Given the description of an element on the screen output the (x, y) to click on. 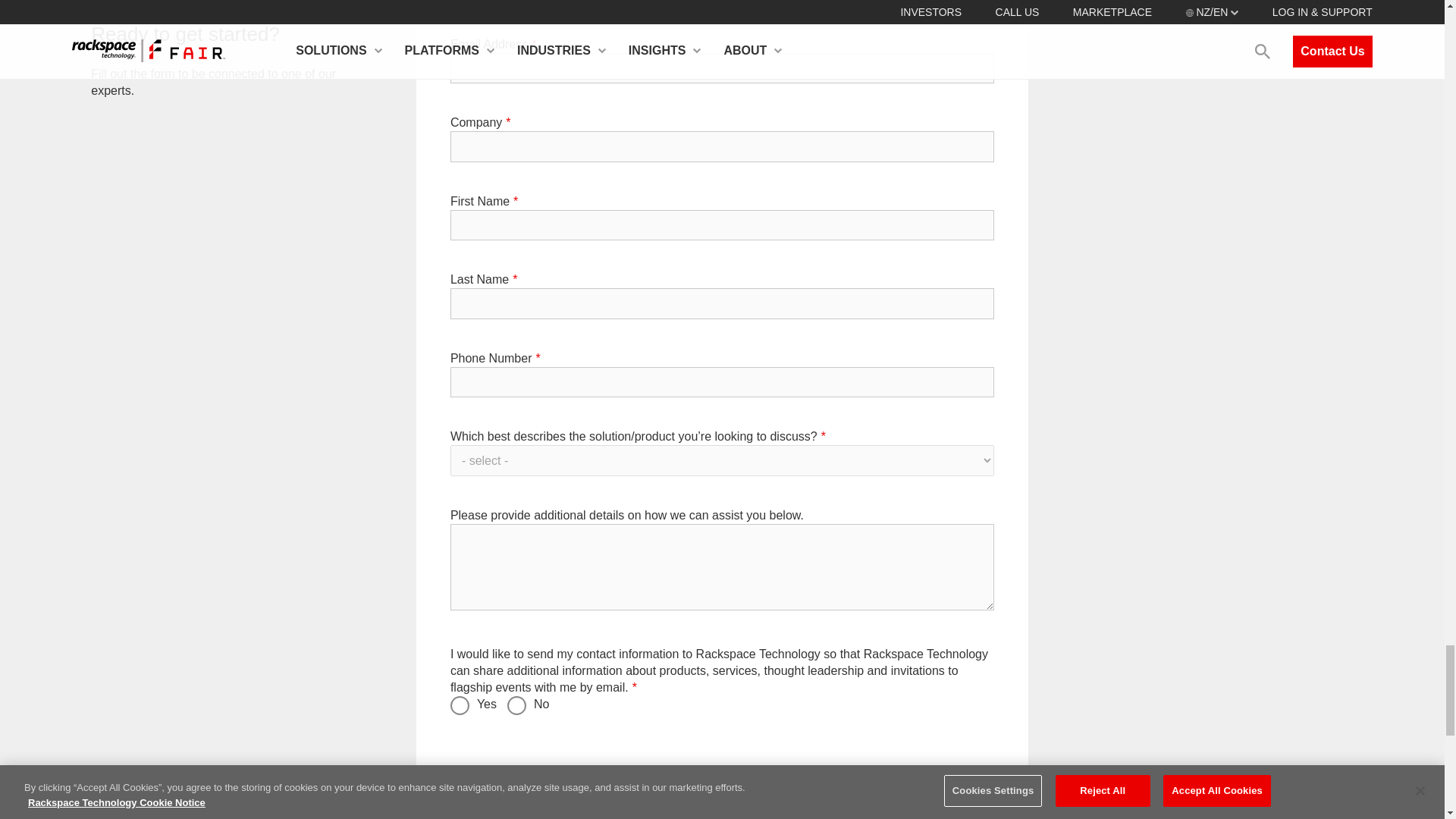
0 (458, 705)
1 (515, 705)
